Given the description of an element on the screen output the (x, y) to click on. 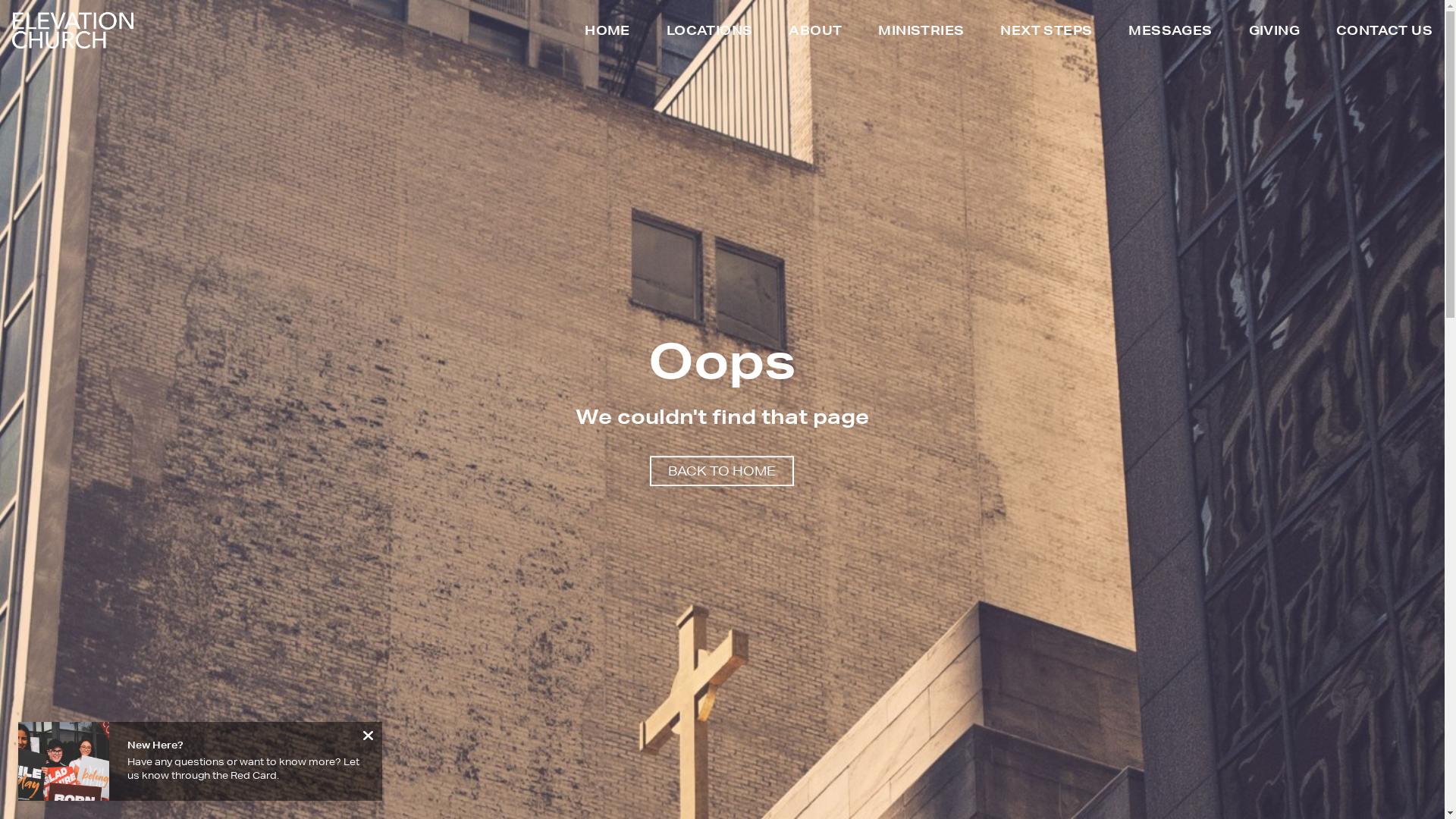
ABOUT Element type: text (814, 33)
MESSAGES Element type: text (1169, 33)
LOCATIONS Element type: text (709, 33)
HOME Element type: text (607, 33)
BACK TO HOME Element type: text (721, 471)
GIVING Element type: text (1273, 33)
NEXT STEPS Element type: text (1046, 33)
CONTACT US Element type: text (1384, 33)
MINISTRIES Element type: text (920, 33)
